Given the description of an element on the screen output the (x, y) to click on. 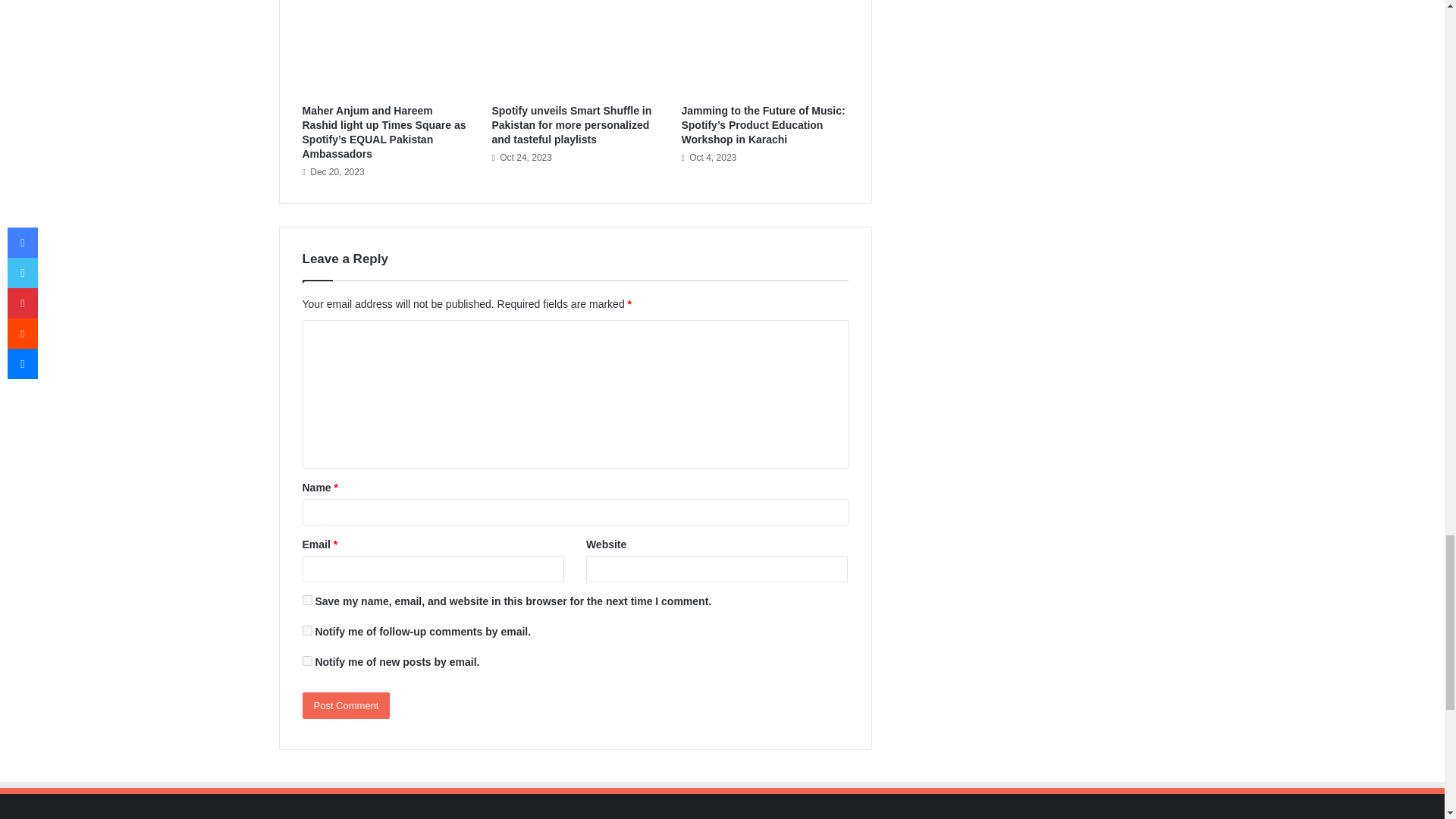
subscribe (306, 660)
yes (306, 600)
Post Comment (345, 705)
subscribe (306, 630)
